Given the description of an element on the screen output the (x, y) to click on. 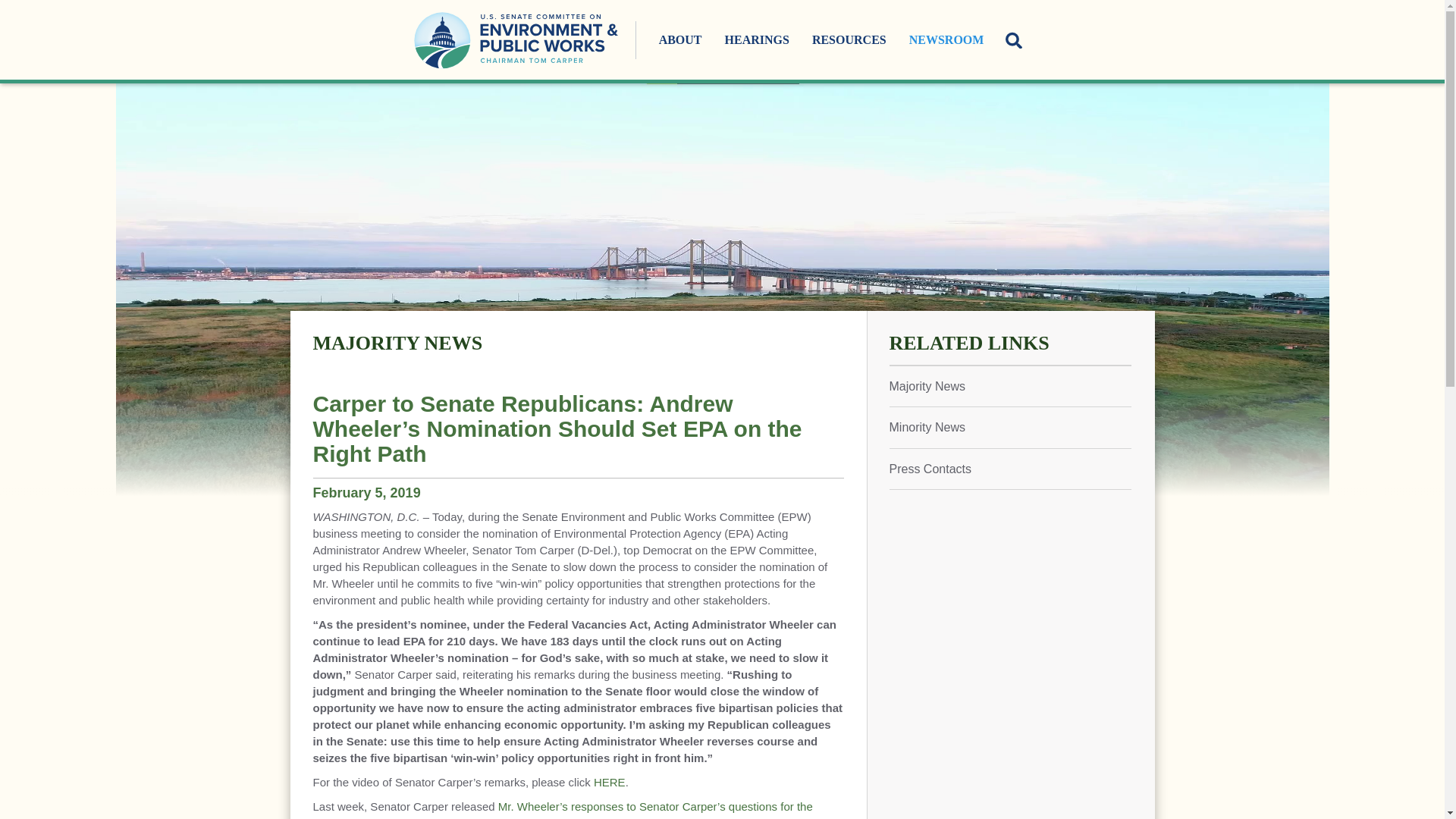
RESOURCES (849, 39)
MAJORITY NEWS (397, 342)
Minority News (1009, 427)
HERE (610, 781)
NEWSROOM (946, 39)
Majority News (1009, 386)
HEARINGS (756, 39)
ABOUT (680, 39)
